Given the description of an element on the screen output the (x, y) to click on. 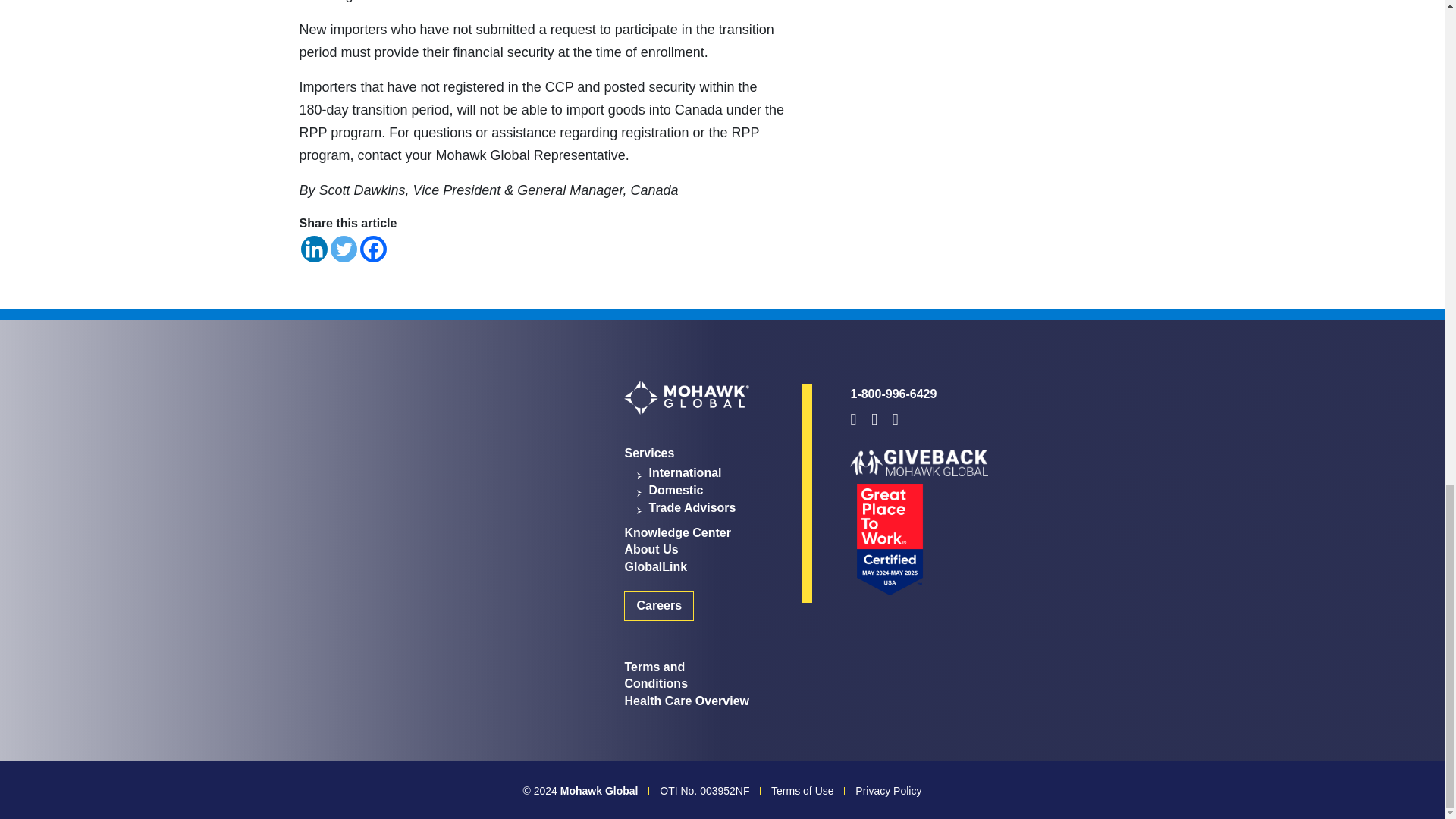
Twitter (343, 248)
Facebook (372, 248)
Mohawk Global (686, 397)
Linkedin (312, 248)
